Given the description of an element on the screen output the (x, y) to click on. 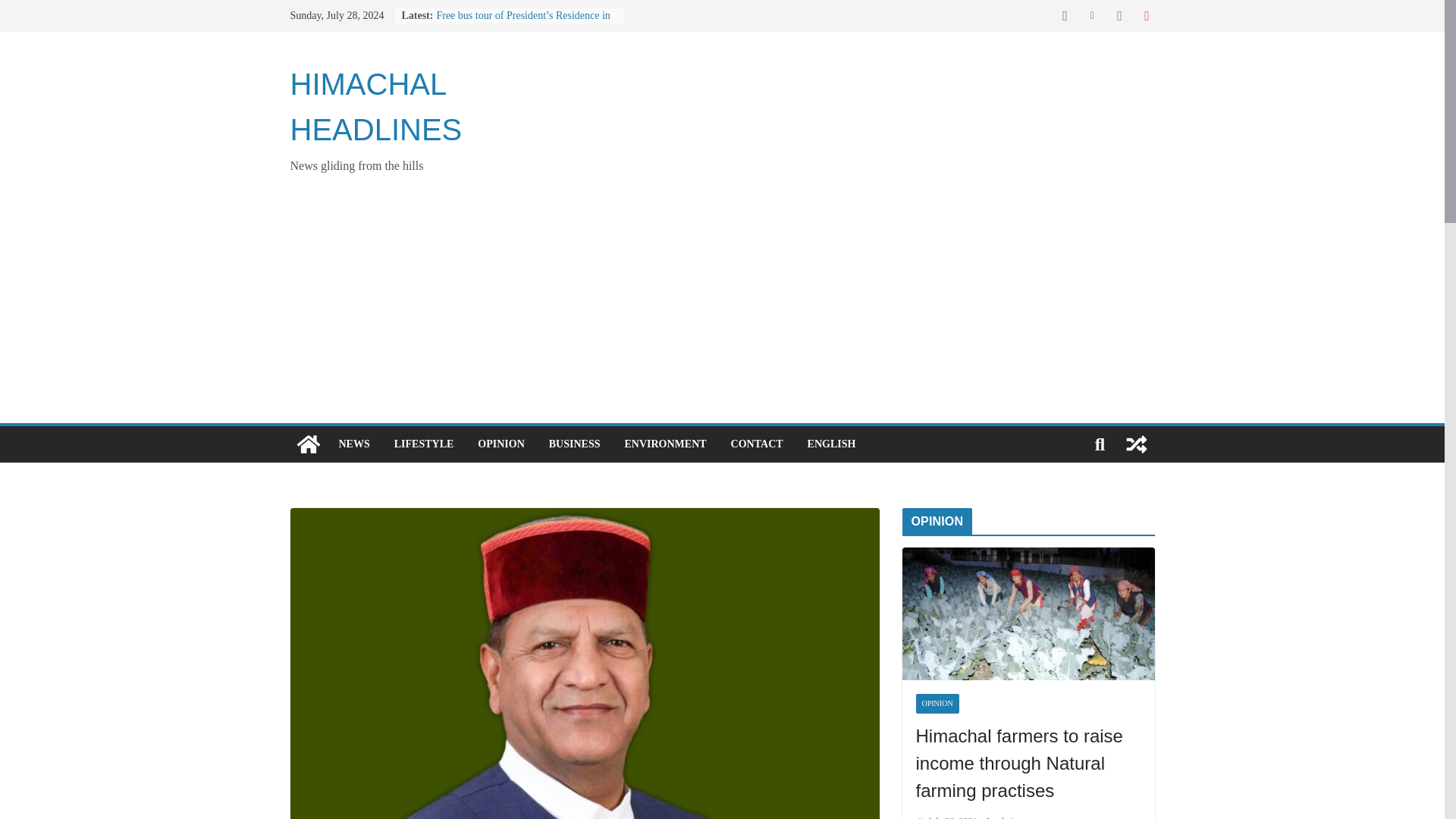
HIMACHAL HEADLINES (375, 106)
LIFESTYLE (424, 444)
HIMACHAL HEADLINES (307, 443)
HIMACHAL HEADLINES (375, 106)
ENVIRONMENT (665, 444)
ENGLISH (832, 444)
NEWS (353, 444)
OPINION (500, 444)
CONTACT (756, 444)
BUSINESS (573, 444)
English (832, 444)
View a random post (1136, 443)
